Given the description of an element on the screen output the (x, y) to click on. 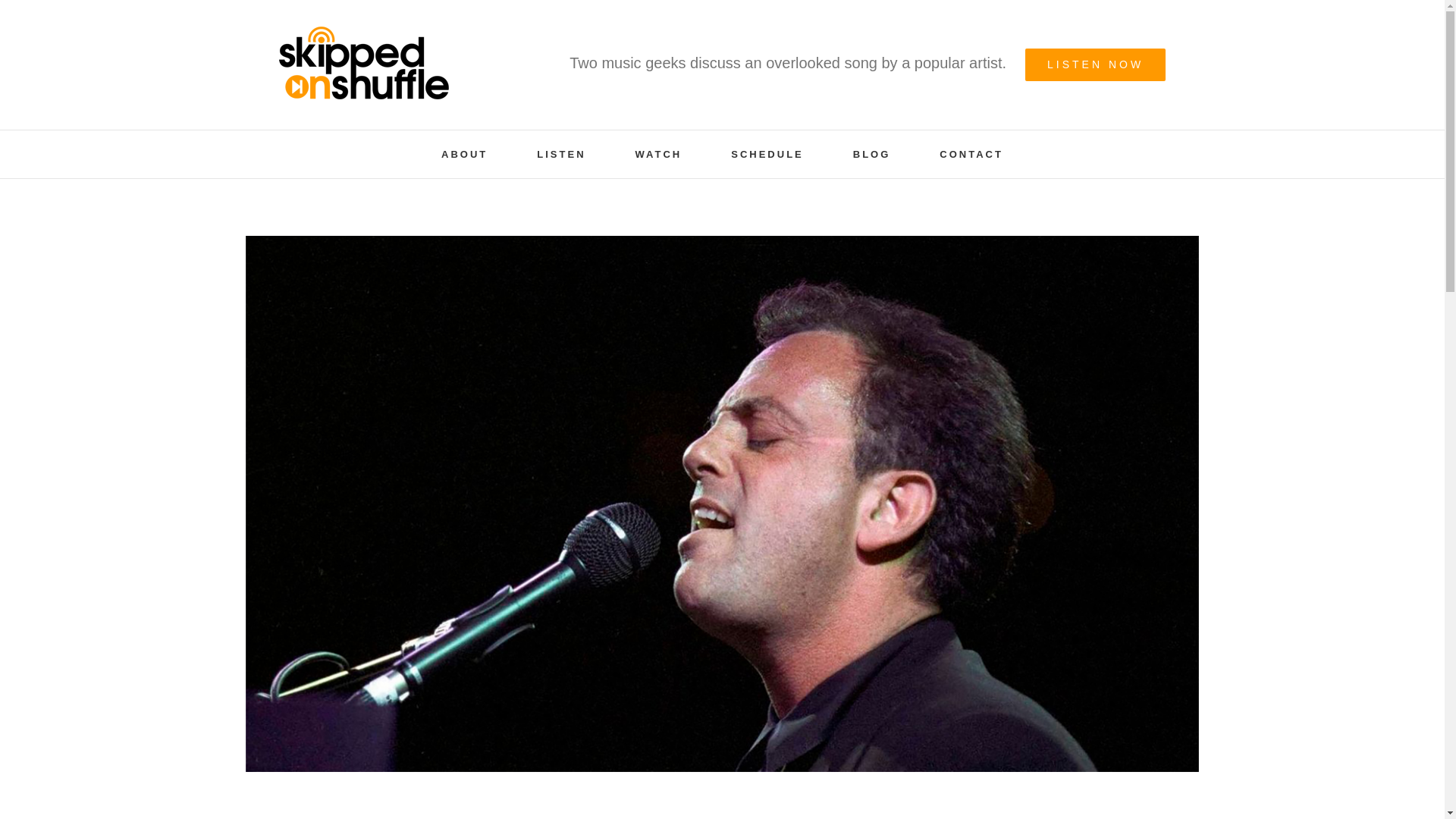
WATCH (658, 154)
ABOUT (464, 154)
Blubrry Podcast Player (722, 806)
CONTACT (971, 154)
LISTEN (561, 154)
SCHEDULE (766, 154)
LISTEN NOW (1095, 64)
